Given the description of an element on the screen output the (x, y) to click on. 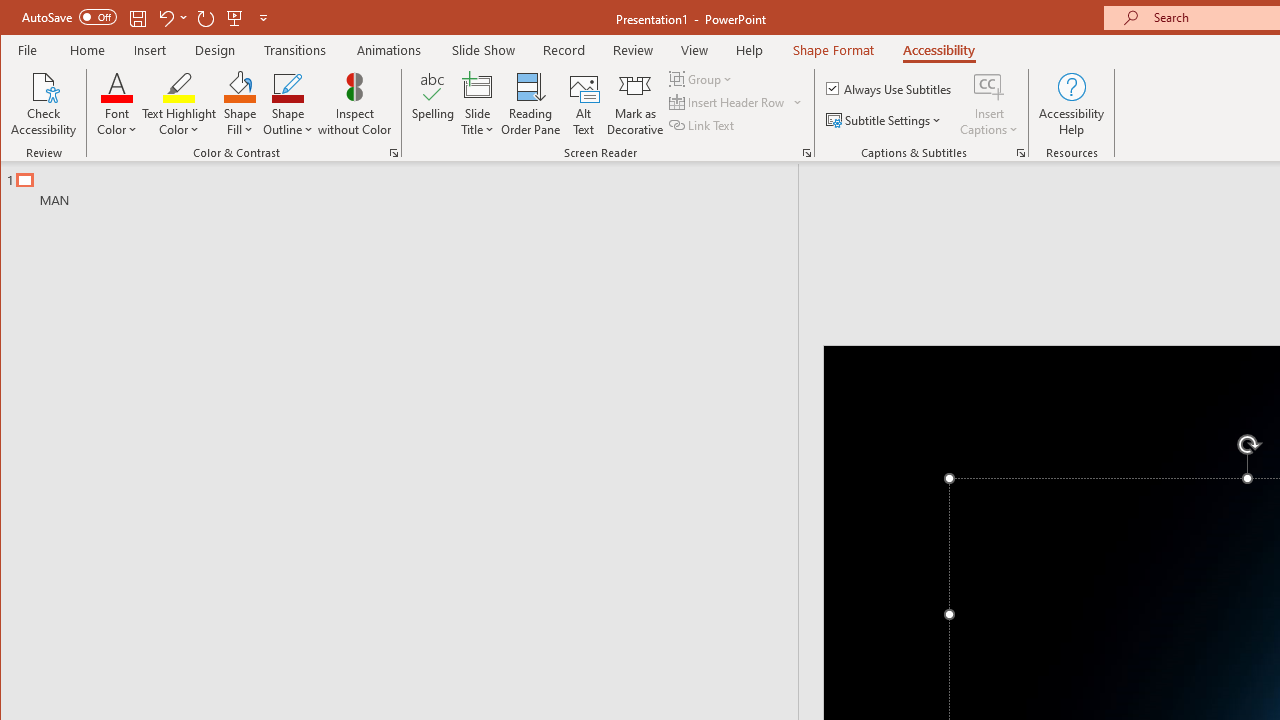
Shape Fill Orange, Accent 2 (239, 86)
Screen Reader (806, 152)
Insert Captions (989, 104)
